Given the description of an element on the screen output the (x, y) to click on. 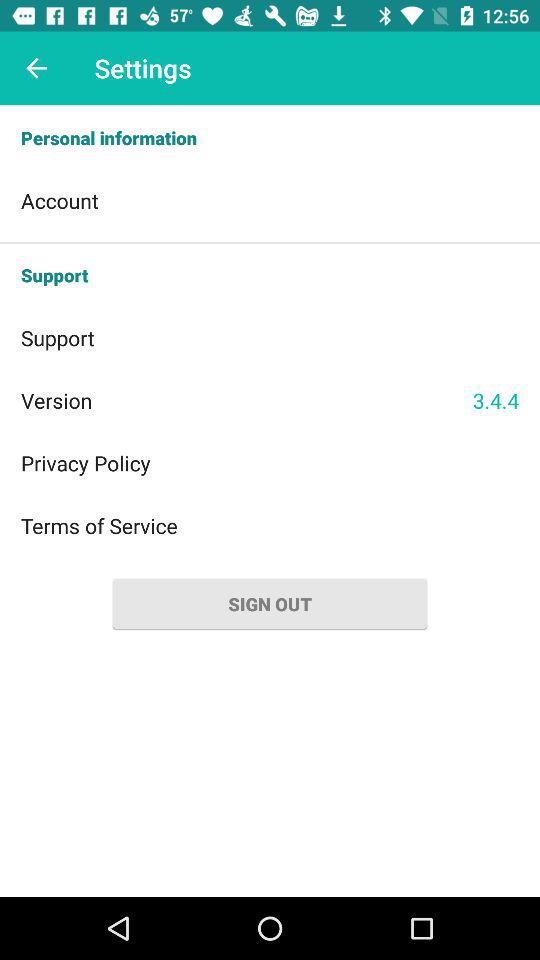
choose terms of service (270, 525)
